Given the description of an element on the screen output the (x, y) to click on. 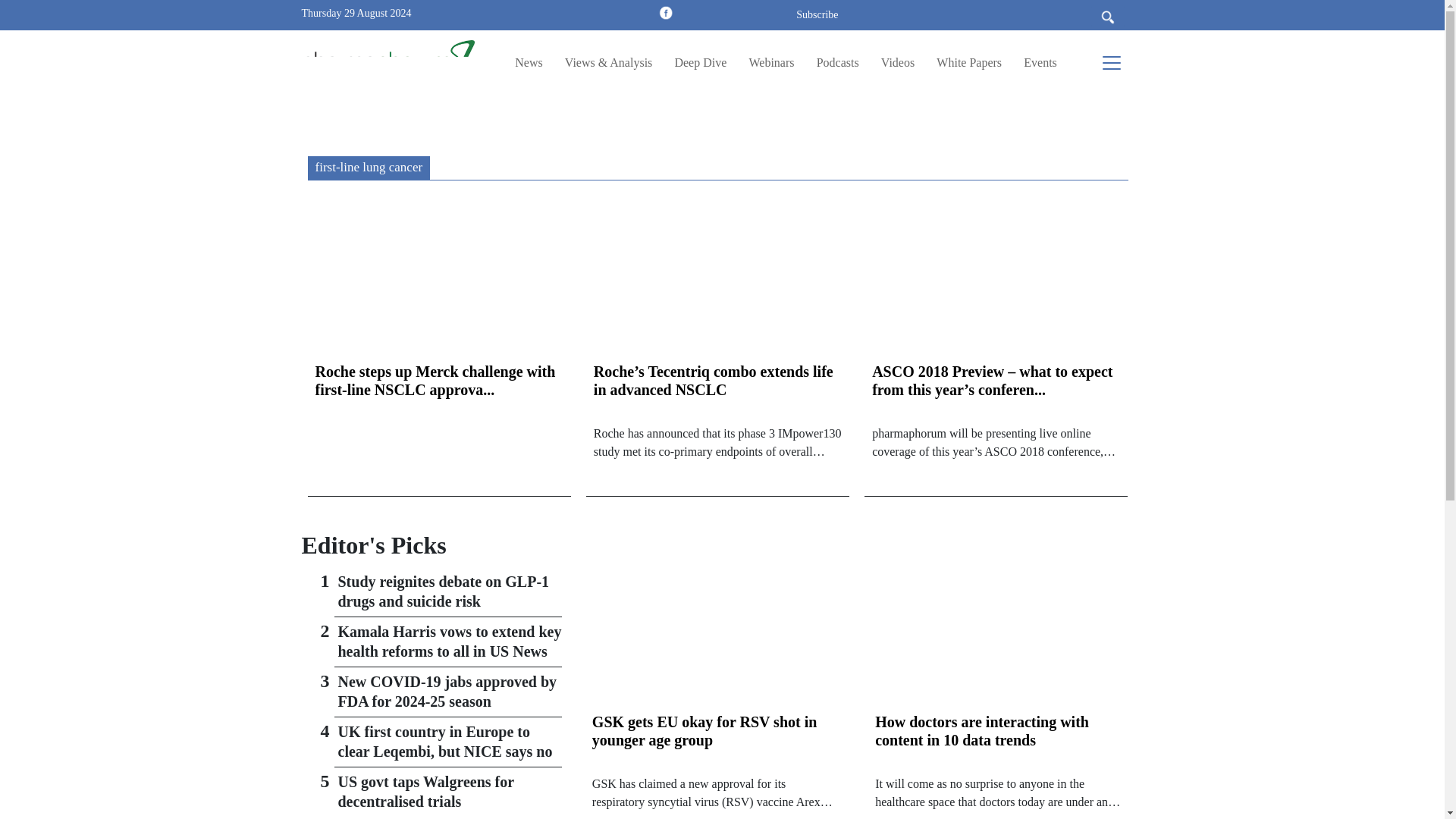
GO (1118, 13)
Videos (897, 62)
rss (642, 12)
Subscribe (817, 14)
facebook (665, 12)
X (711, 12)
News (528, 62)
twitter (711, 12)
Deep Dive (700, 62)
linkedin (688, 12)
